Given the description of an element on the screen output the (x, y) to click on. 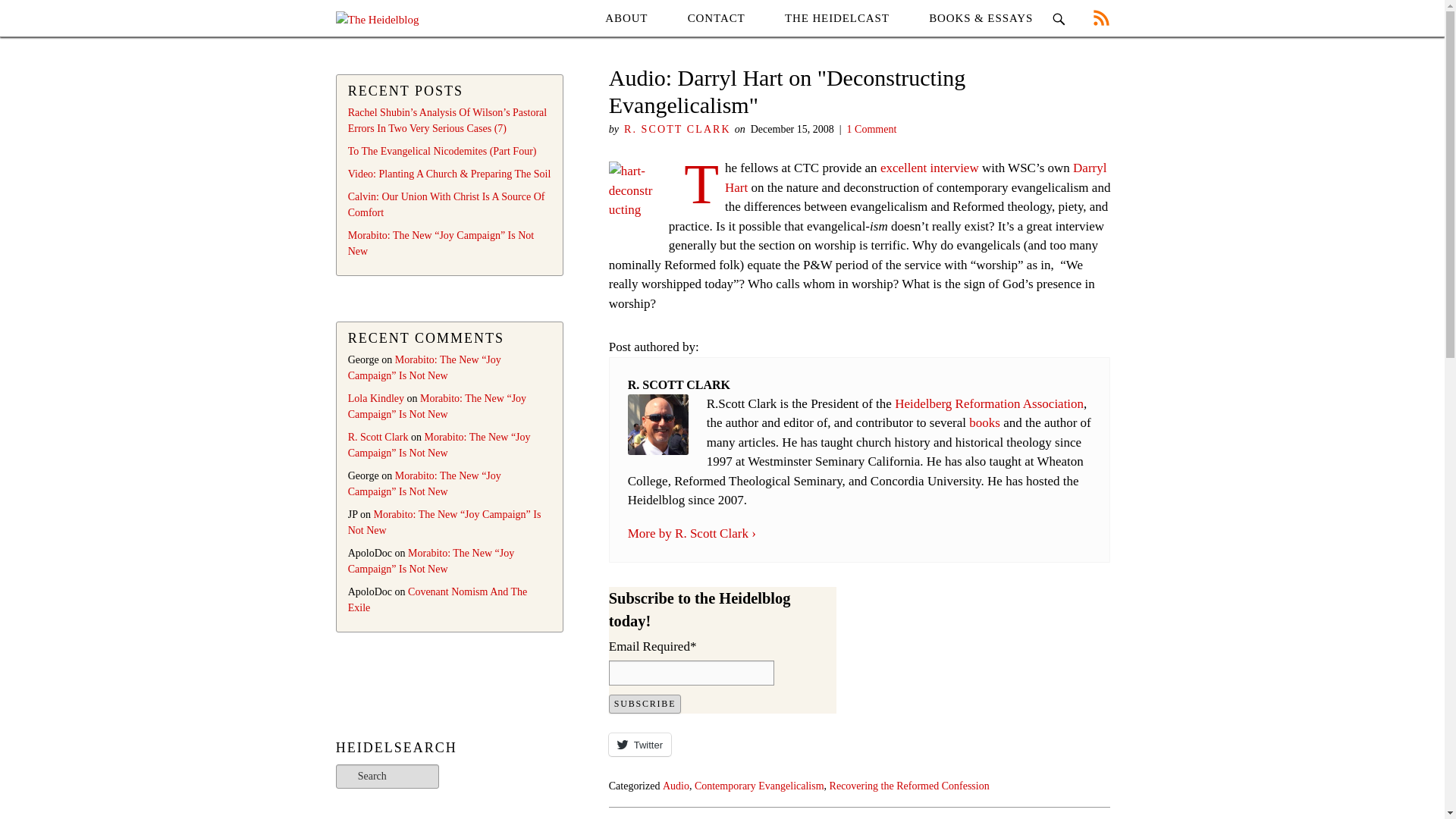
Subscribe (644, 703)
Audio (675, 785)
About (625, 18)
Contact (715, 18)
Contemporary Evangelicalism (759, 785)
CONTACT (715, 18)
excellent interview (929, 167)
R. SCOTT CLARK (677, 129)
THE HEIDELCAST (837, 18)
